Given the description of an element on the screen output the (x, y) to click on. 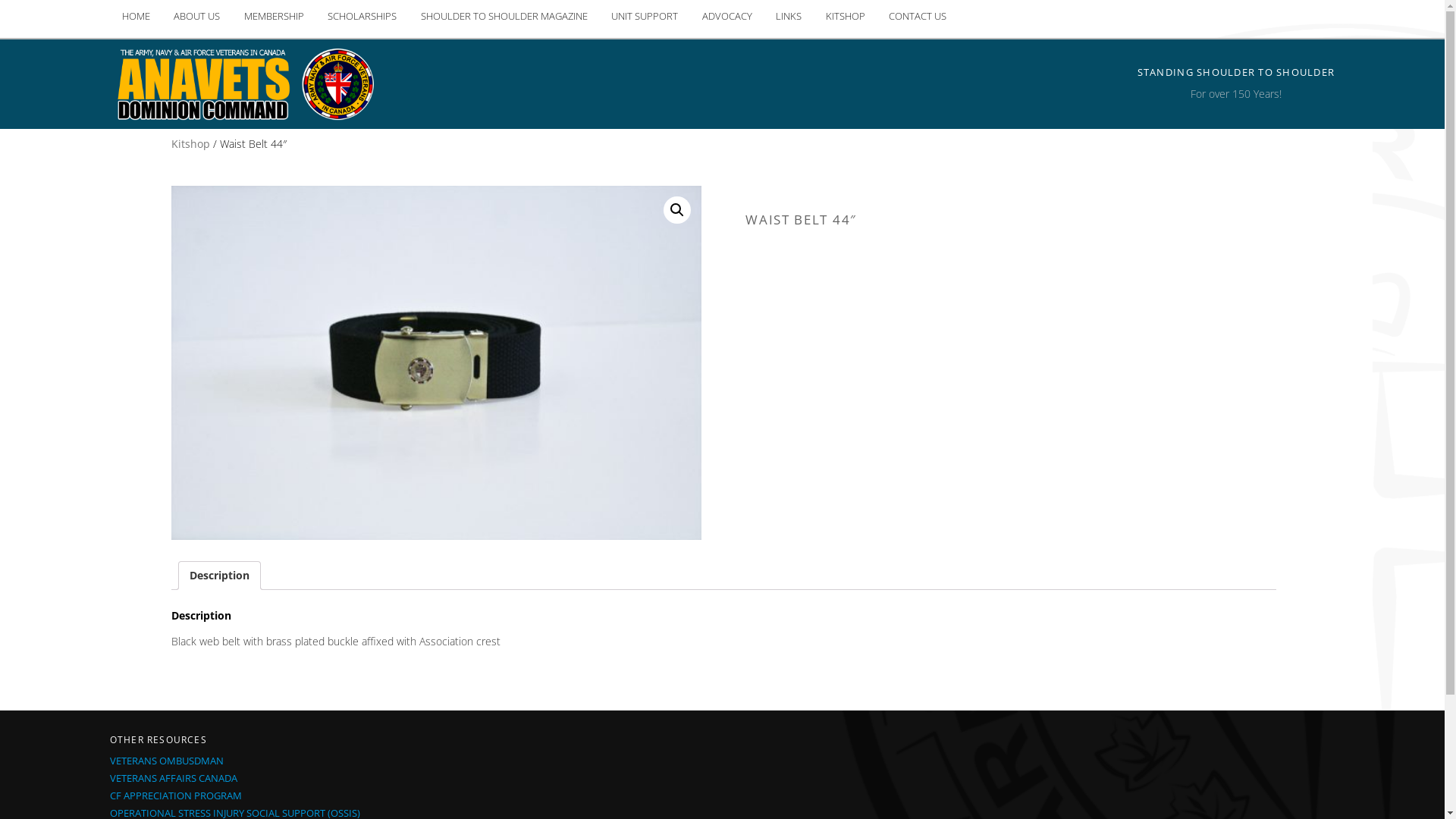
SHOULDER TO SHOULDER MAGAZINE Element type: text (503, 16)
Kitshop Element type: text (190, 143)
waiste_belt Element type: hover (436, 362)
CF APPRECIATION PROGRAM Element type: text (175, 795)
UNIT SUPPORT Element type: text (644, 16)
MEMBERSHIP Element type: text (274, 16)
CONTACT US Element type: text (917, 16)
Description Element type: text (219, 575)
KITSHOP Element type: text (845, 16)
VETERANS OMBUSDMAN Element type: text (166, 760)
HOME Element type: text (135, 16)
ADVOCACY Element type: text (727, 16)
SCHOLARSHIPS Element type: text (361, 16)
VETERANS AFFAIRS CANADA Element type: text (173, 777)
ABOUT US Element type: text (196, 16)
Skip to primary content Element type: text (122, 0)
LINKS Element type: text (788, 16)
